Given the description of an element on the screen output the (x, y) to click on. 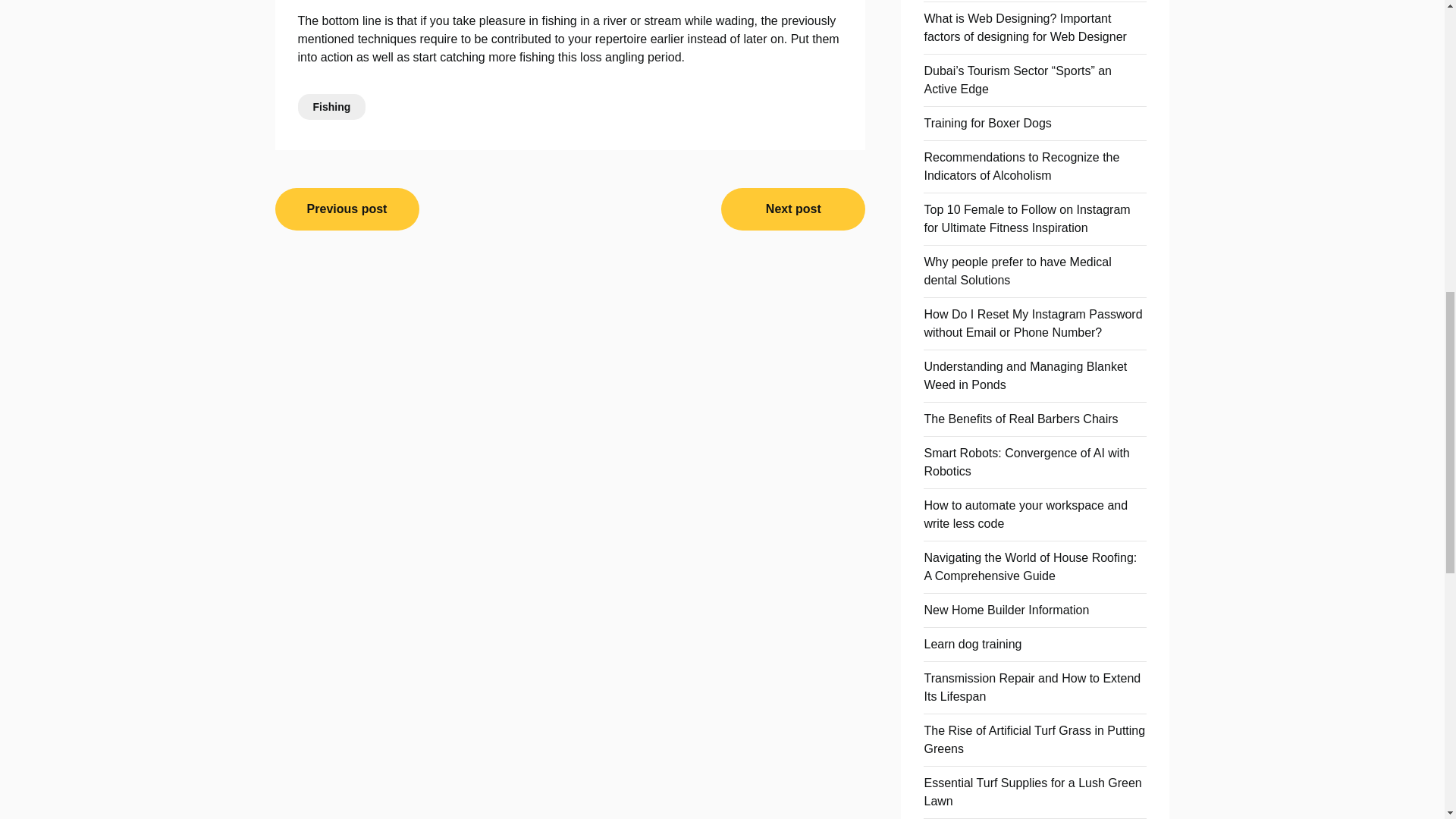
Essential Turf Supplies for a Lush Green Lawn (1032, 791)
The Benefits of Real Barbers Chairs (1020, 418)
Previous post (347, 209)
Navigating the World of House Roofing: A Comprehensive Guide (1030, 566)
How to automate your workspace and write less code (1024, 513)
Training for Boxer Dogs (987, 123)
Fishing (331, 106)
Understanding and Managing Blanket Weed in Ponds (1024, 375)
Transmission Repair and How to Extend Its Lifespan (1031, 686)
Next post (792, 209)
Smart Robots: Convergence of AI with Robotics (1026, 461)
New Home Builder Information (1006, 609)
Learn dog training (972, 644)
